Given the description of an element on the screen output the (x, y) to click on. 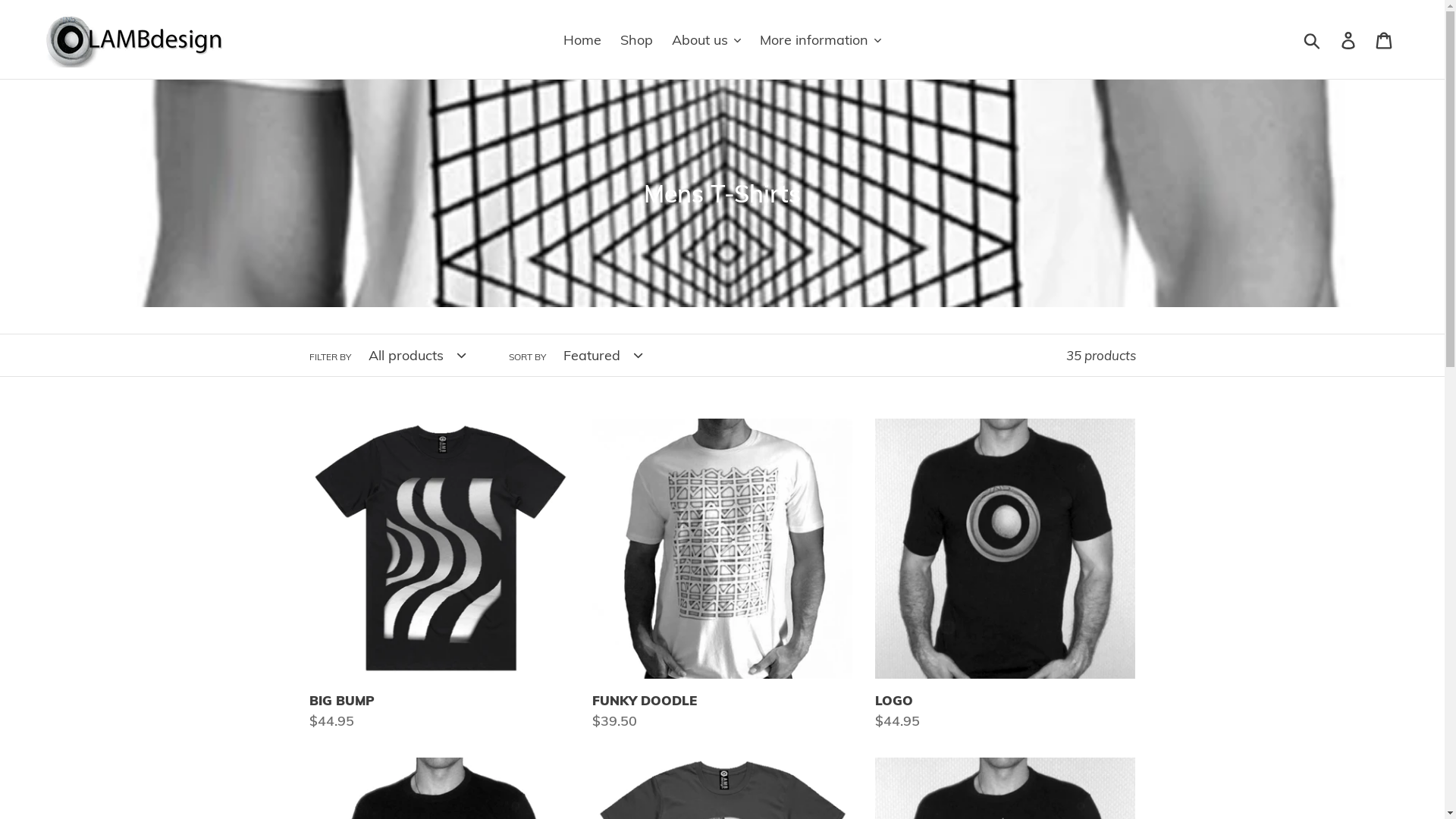
BIG BUMP Element type: text (439, 574)
Home Element type: text (581, 39)
FUNKY DOODLE Element type: text (722, 574)
Log in Element type: text (1349, 38)
Shop Element type: text (636, 39)
LOGO Element type: text (1005, 574)
Cart Element type: text (1384, 38)
Submit Element type: text (1312, 39)
